Given the description of an element on the screen output the (x, y) to click on. 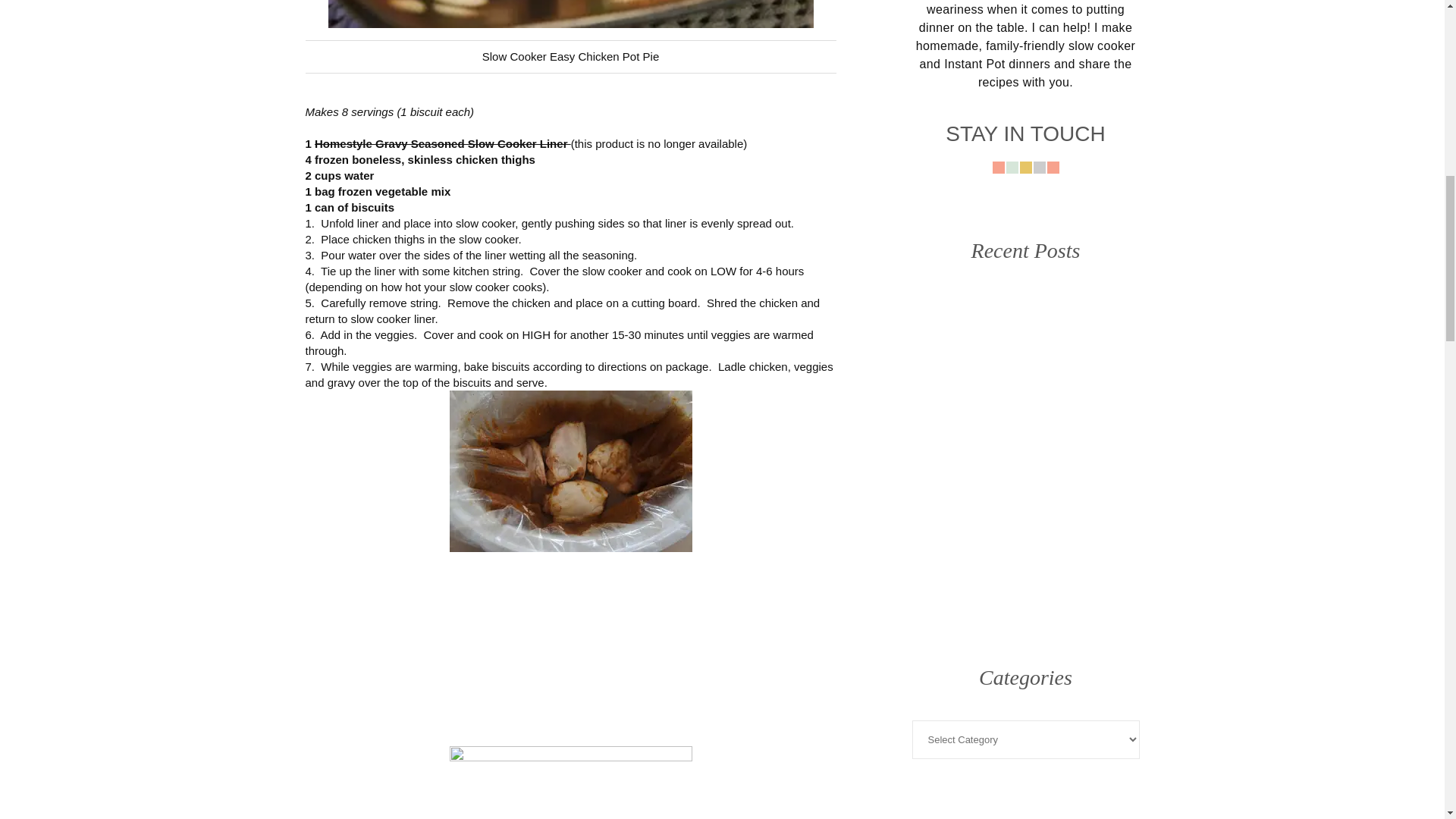
In N Out Casserole (968, 347)
No Hope Casserole (1082, 347)
Countryside Casserole (968, 575)
No Politics Casserole (1082, 575)
Midwest Casserole (968, 461)
